Given the description of an element on the screen output the (x, y) to click on. 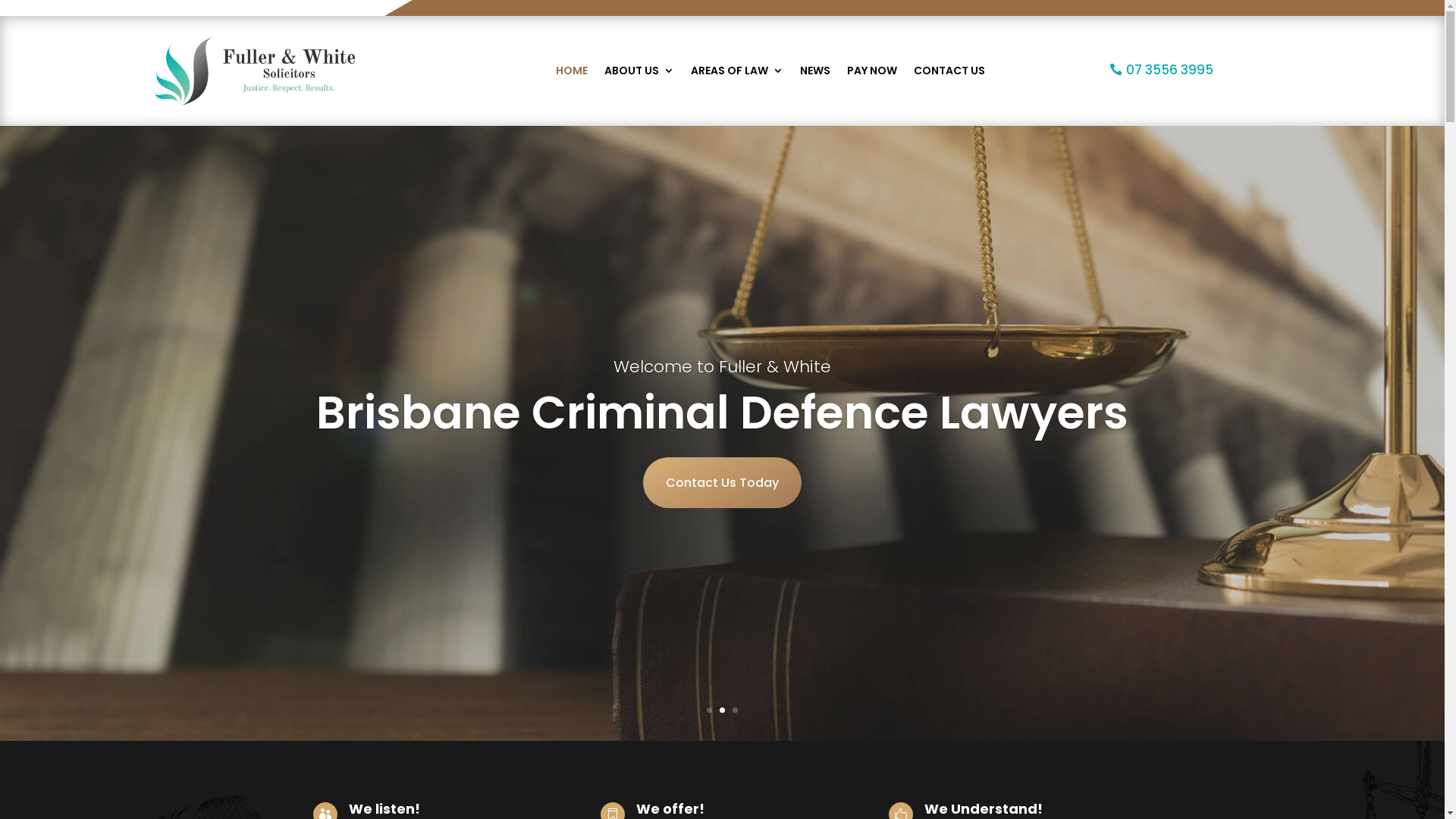
1 Element type: text (709, 709)
Welcome to Fuller & White Element type: text (722, 366)
07 3556 3995 Element type: text (1161, 69)
Contact Us Today Element type: text (722, 482)
AREAS OF LAW Element type: text (736, 70)
HOME Element type: text (570, 70)
NEWS Element type: text (814, 70)
CONTACT US Element type: text (948, 70)
3 Element type: text (734, 709)
PAY NOW Element type: text (871, 70)
ABOUT US Element type: text (638, 70)
2 Element type: text (721, 709)
